Given the description of an element on the screen output the (x, y) to click on. 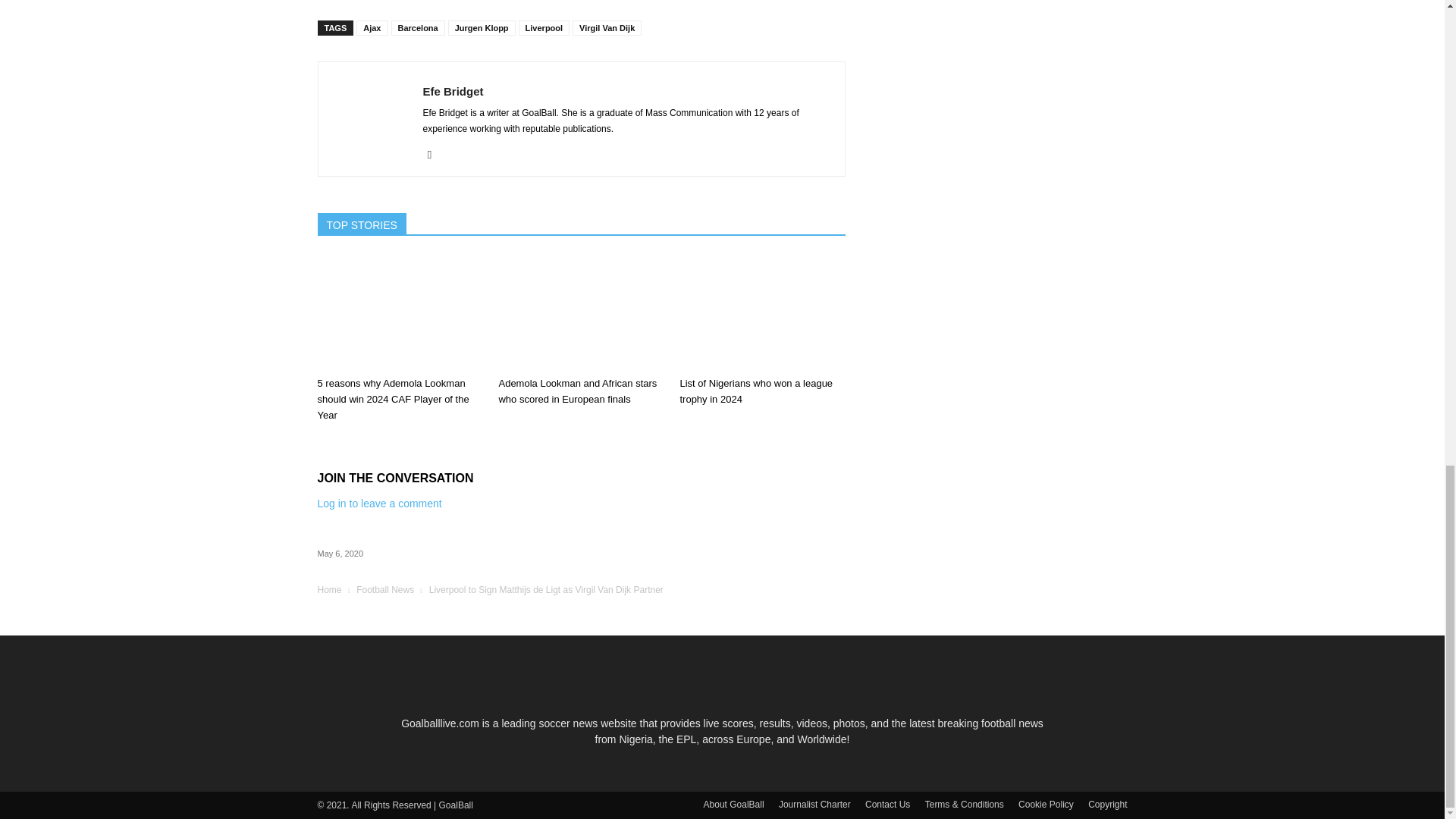
Twitter (435, 154)
List of Nigerians who won a league trophy in 2024 (755, 390)
List of Nigerians who won a league trophy in 2024 (761, 313)
